Given the description of an element on the screen output the (x, y) to click on. 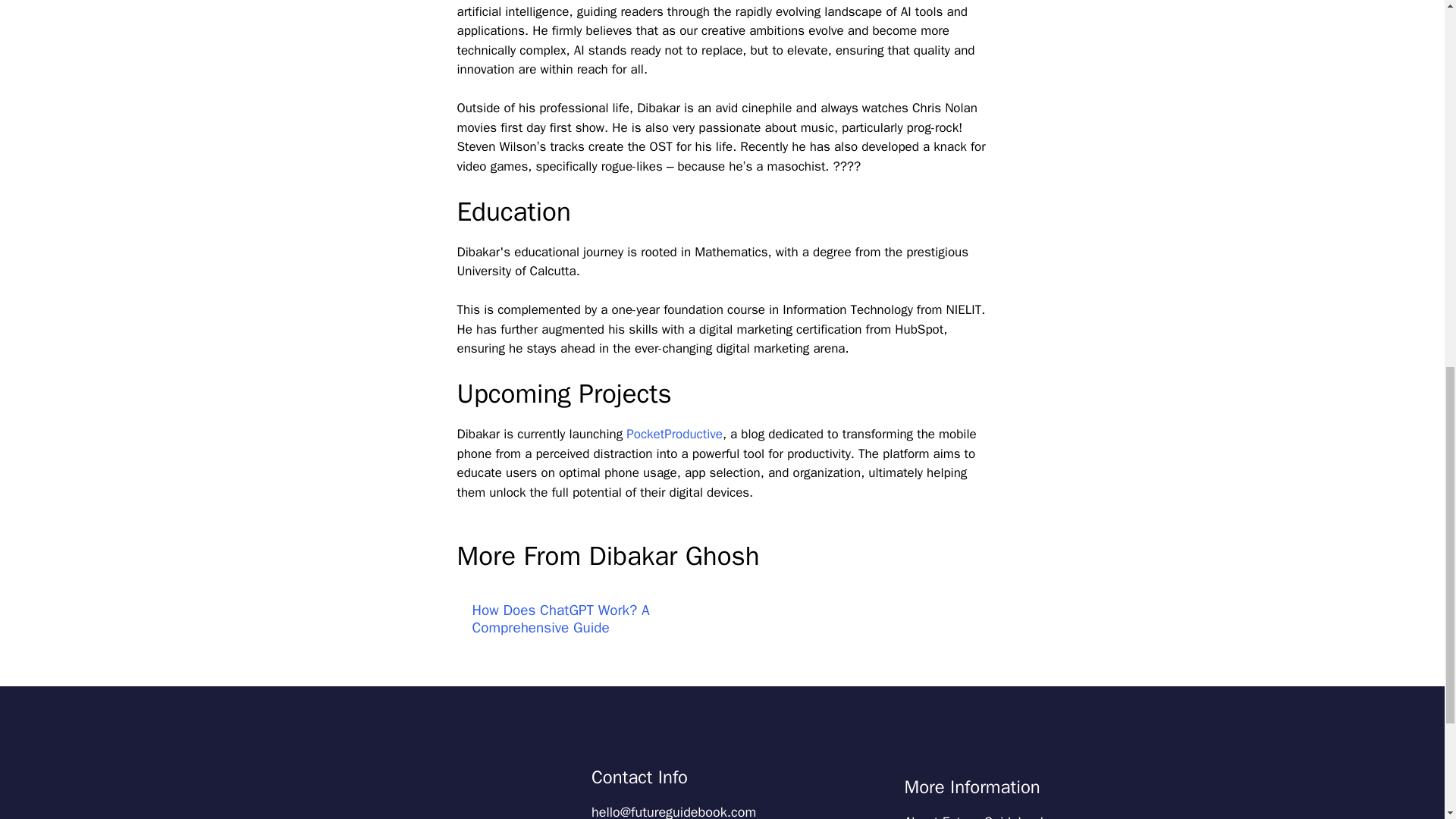
How Does ChatGPT Work? A Comprehensive Guide (560, 619)
About Future Guidebook (975, 815)
PocketProductive (674, 433)
